Given the description of an element on the screen output the (x, y) to click on. 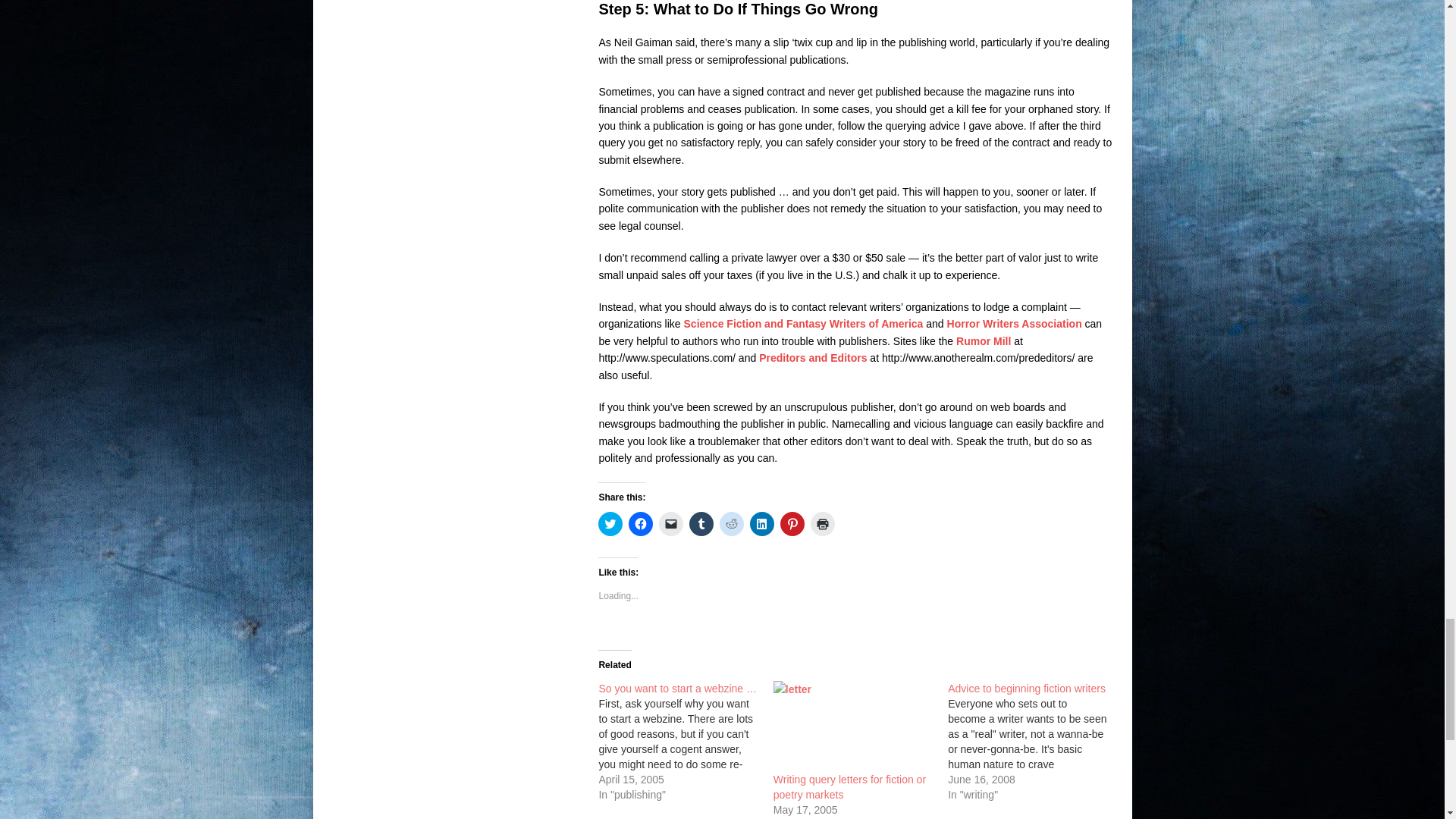
Click to share on Twitter (610, 523)
Click to email a link to a friend (670, 523)
Click to share on Pinterest (792, 523)
Click to print (822, 523)
Click to share on Tumblr (700, 523)
Click to share on Reddit (731, 523)
Click to share on LinkedIn (761, 523)
Click to share on Facebook (640, 523)
Rumor Mill (983, 340)
Horror Writers Association (1014, 323)
Science Fiction and Fantasy Writers of America (803, 323)
